Given the description of an element on the screen output the (x, y) to click on. 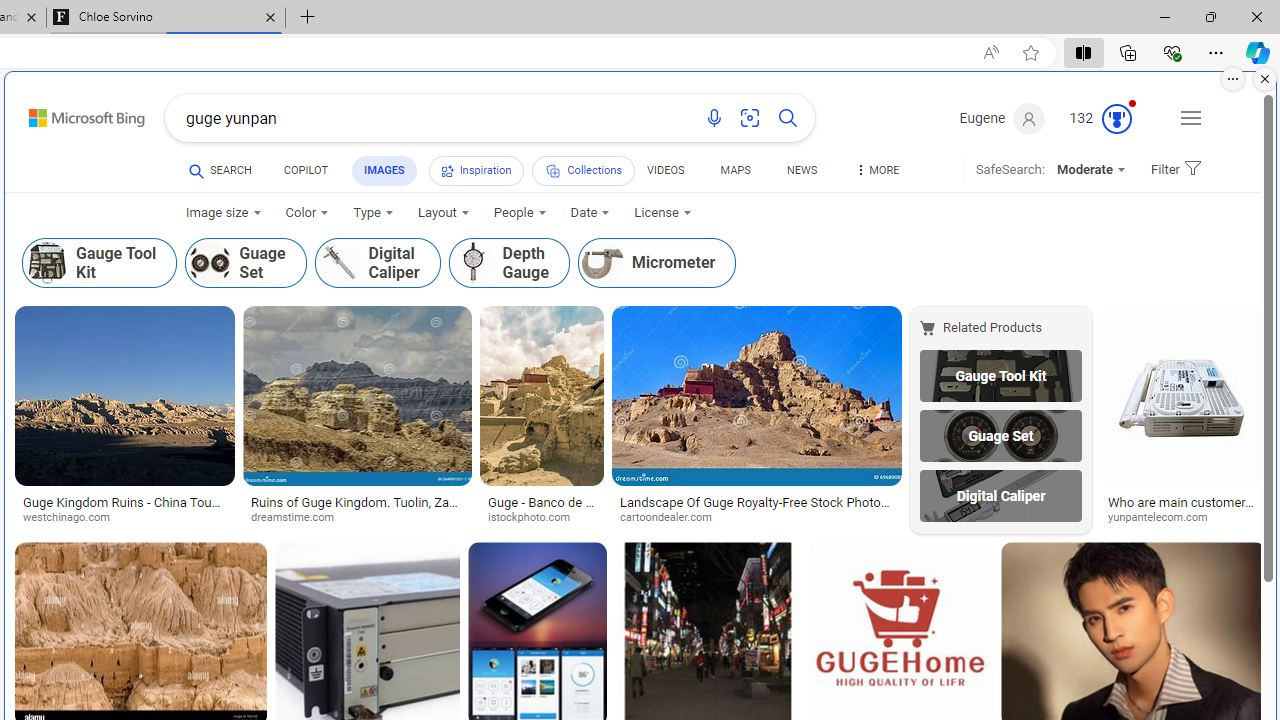
Filter (1172, 169)
More options. (1233, 79)
